Given the description of an element on the screen output the (x, y) to click on. 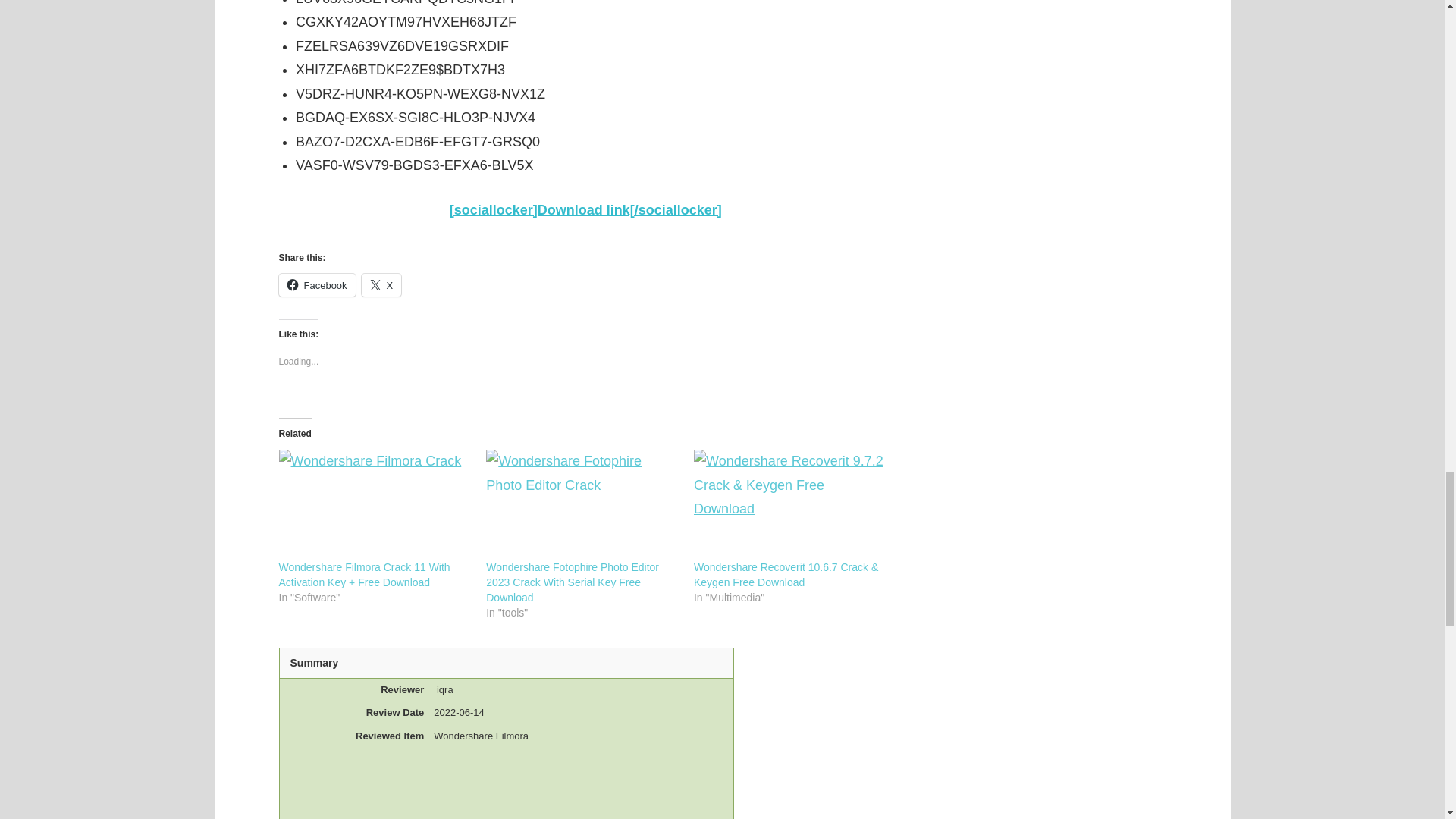
Facebook (317, 284)
Click to share on Facebook (317, 284)
X (381, 284)
Click to share on X (381, 284)
